Given the description of an element on the screen output the (x, y) to click on. 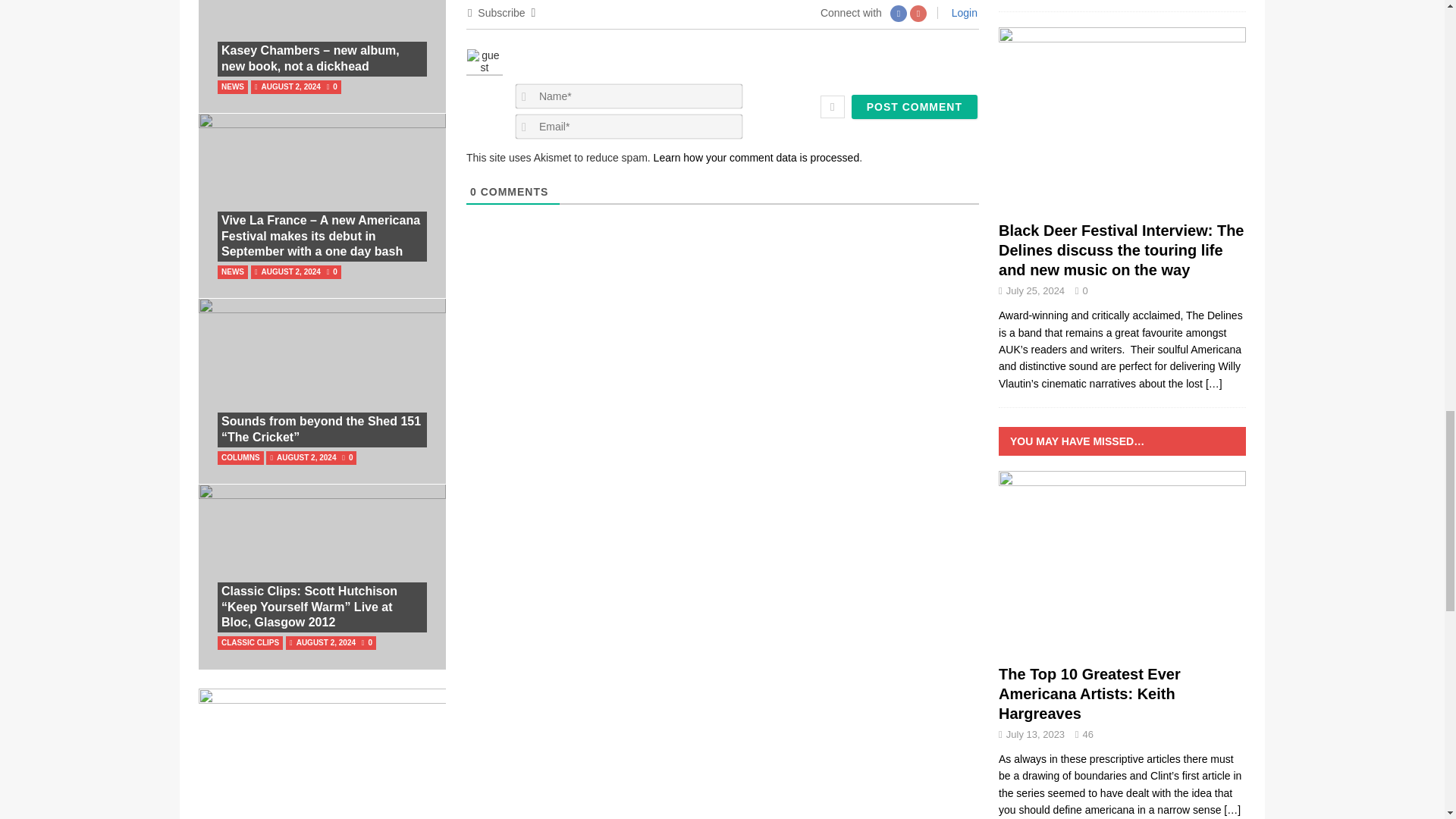
Post Comment (913, 106)
